Given the description of an element on the screen output the (x, y) to click on. 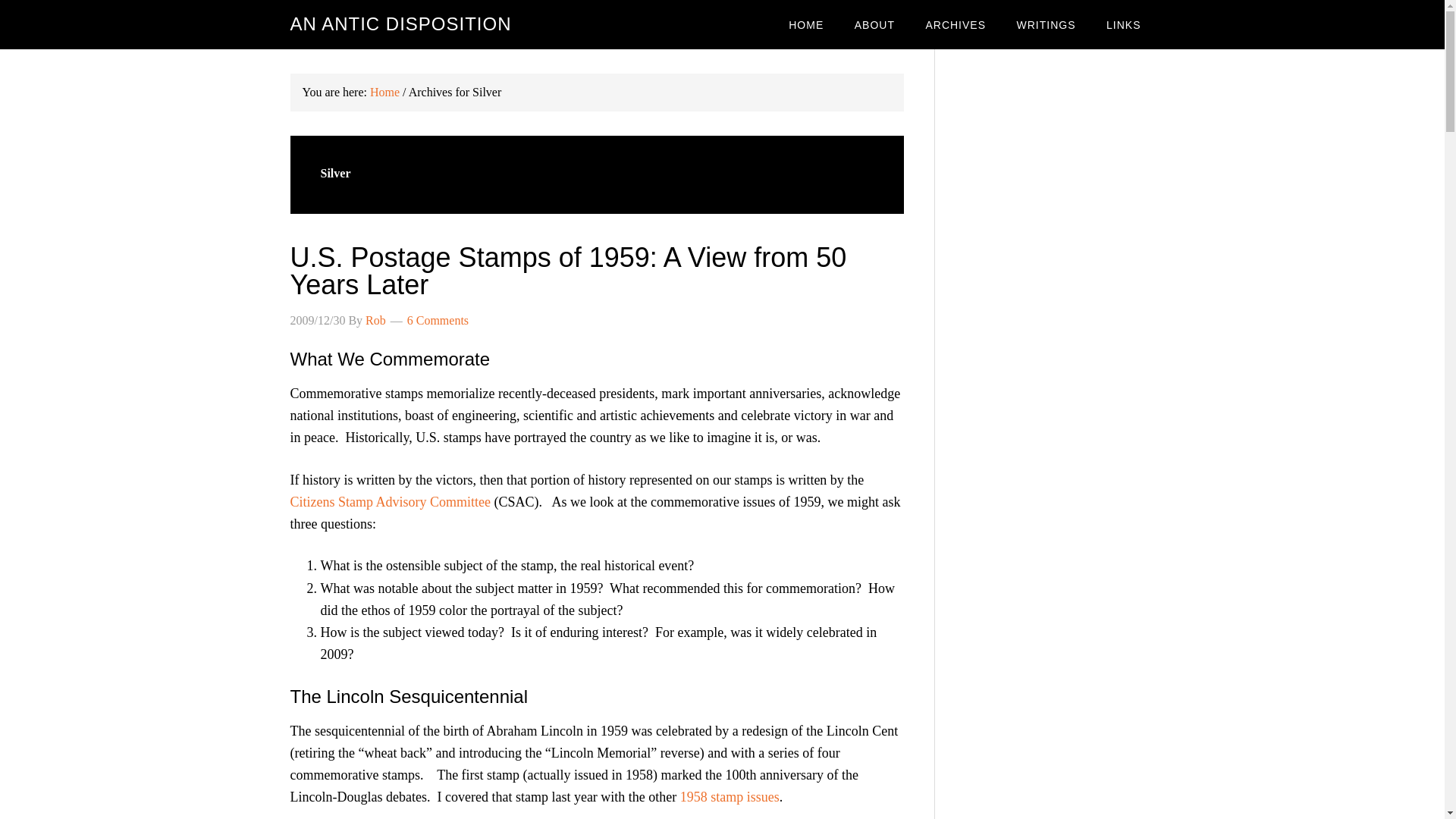
ABOUT (874, 24)
LINKS (1123, 24)
HOME (805, 24)
AN ANTIC DISPOSITION (400, 23)
U.S. Postage Stamps of 1959: A View from 50 Years Later (567, 270)
WRITINGS (1046, 24)
Citizens Stamp Advisory Committee (389, 501)
1958 stamp issues (728, 796)
Rob (375, 319)
6 Comments (437, 319)
ARCHIVES (954, 24)
Home (383, 91)
